Given the description of an element on the screen output the (x, y) to click on. 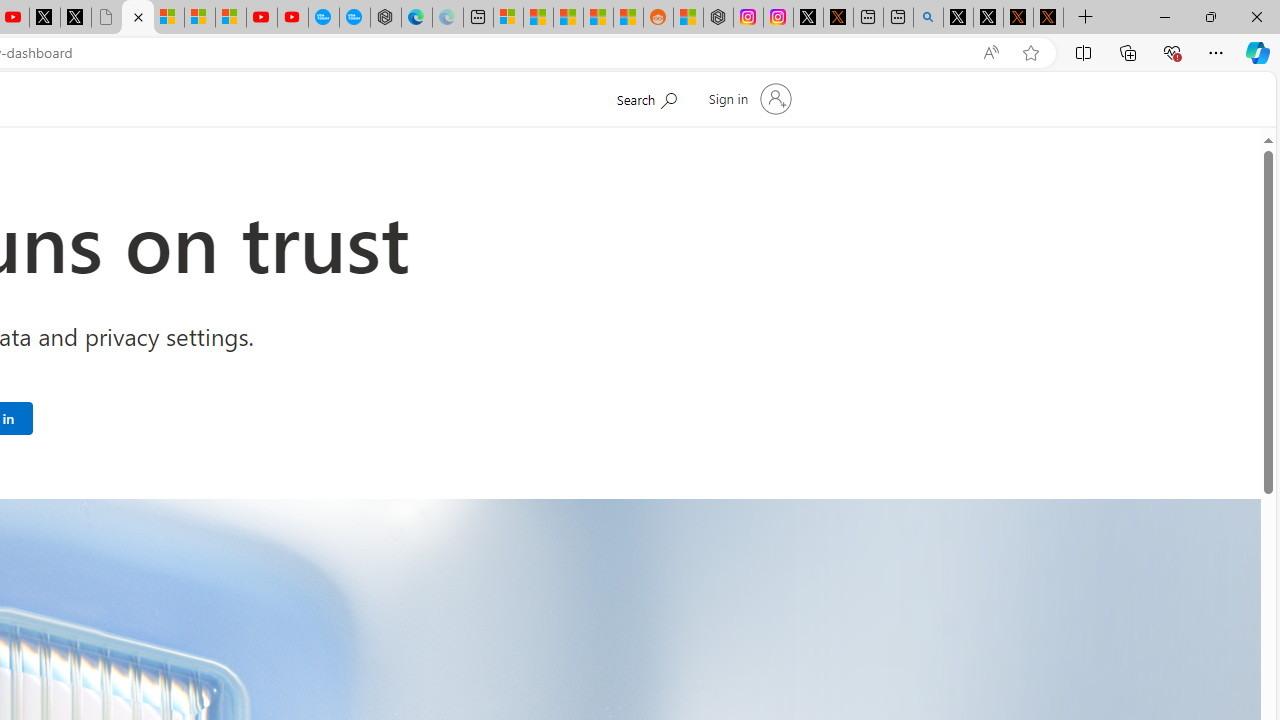
X Privacy Policy (1048, 17)
Nordace - Nordace has arrived Hong Kong (385, 17)
Shanghai, China hourly forecast | Microsoft Weather (568, 17)
GitHub (@github) / X (988, 17)
Search Microsoft.com (646, 97)
Shanghai, China Weather trends | Microsoft Weather (628, 17)
